Given the description of an element on the screen output the (x, y) to click on. 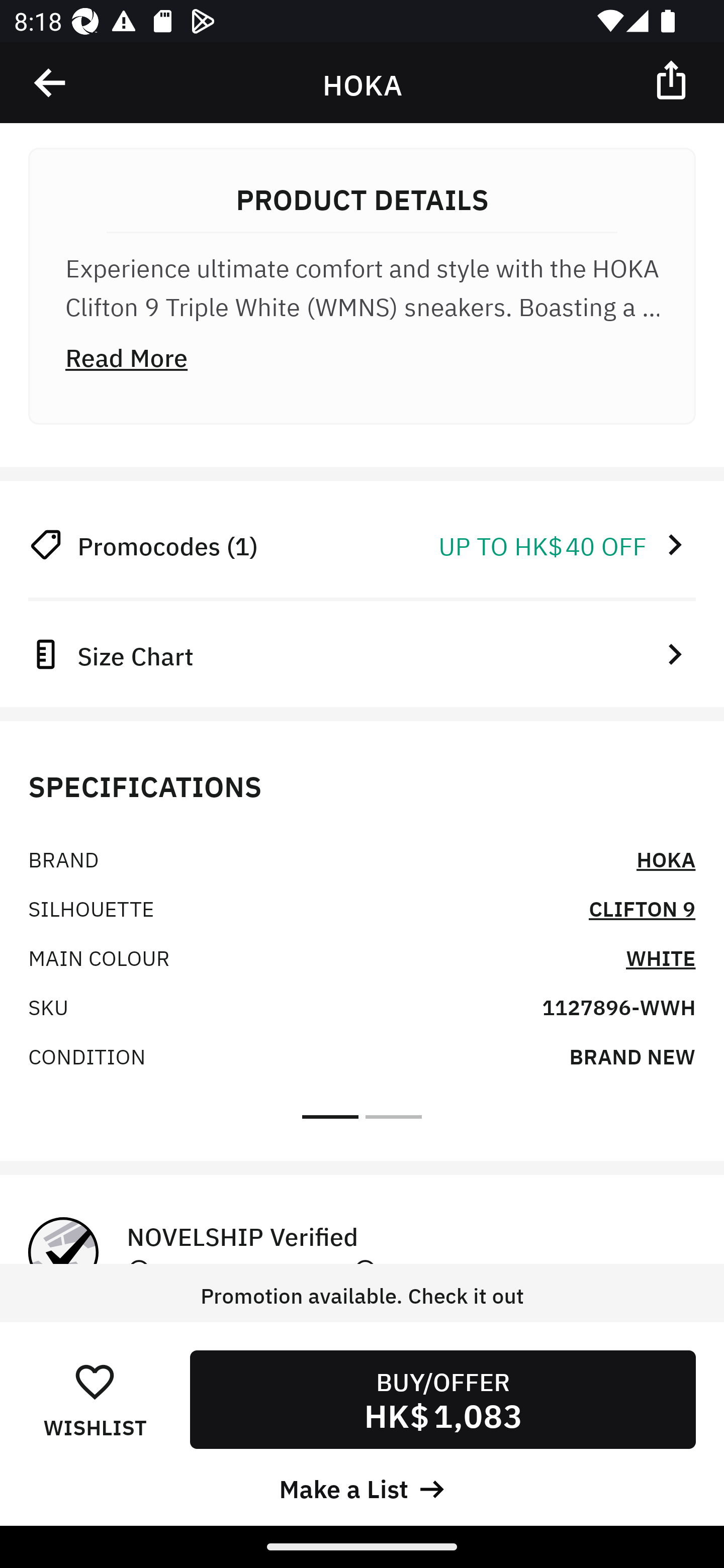
 (50, 83)
 (672, 79)
Promocodes (1) UP TO HK$ 40 OFF  (361, 544)
Size Chart  (361, 654)
HOKA (665, 858)
CLIFTON 9 (641, 907)
WHITE (660, 956)
1127896-WWH (618, 1005)
BRAND NEW (632, 1055)
BUY/OFFER HK$ 1,083 (442, 1399)
󰋕 (94, 1380)
Make a List (361, 1486)
